Given the description of an element on the screen output the (x, y) to click on. 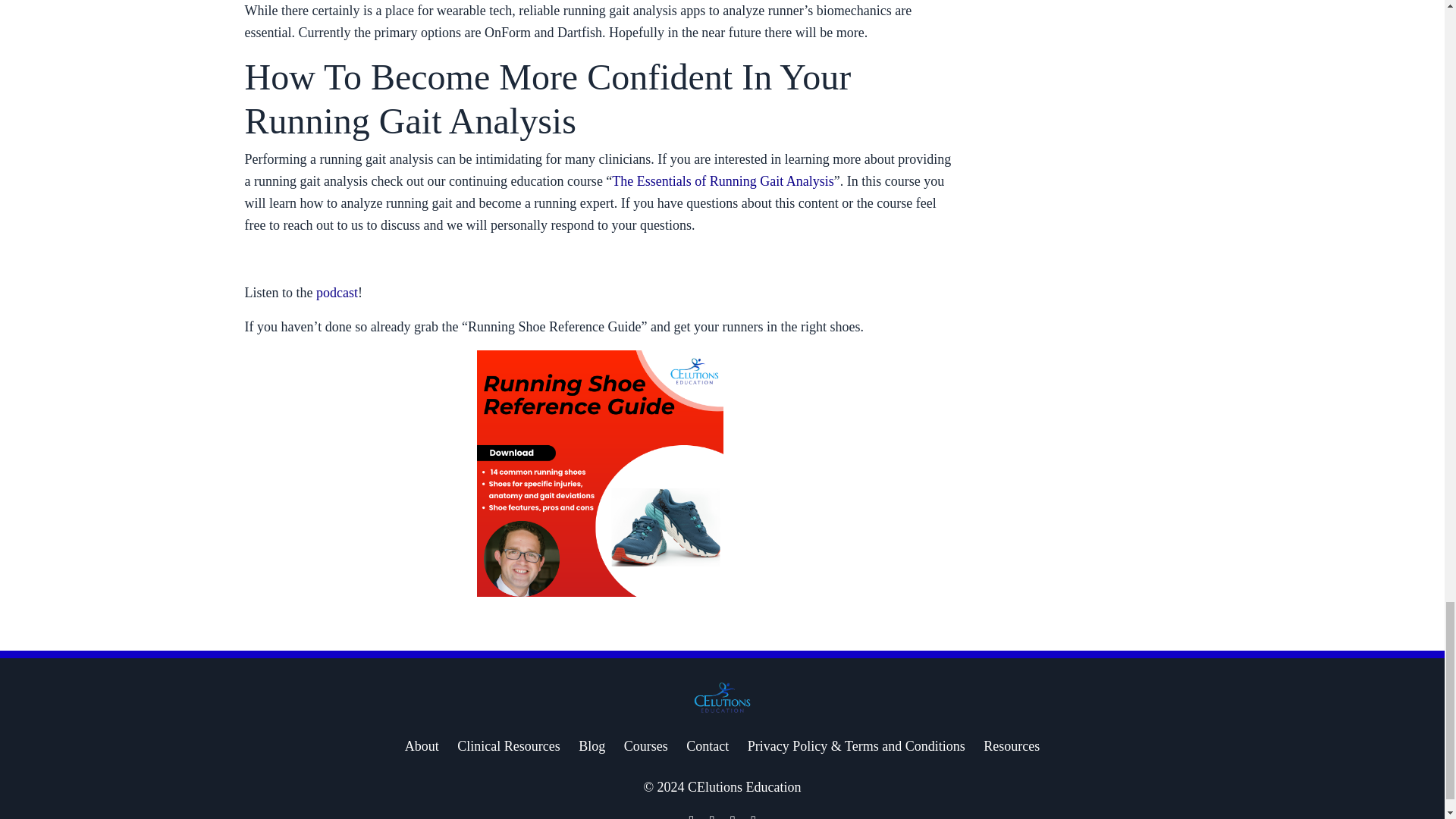
Clinical Resources (508, 745)
Contact (707, 745)
Courses (646, 745)
Blog (591, 745)
About (421, 745)
podcast (336, 292)
The Essentials of Running Gait Analysis (721, 181)
Resources (1011, 745)
